Given the description of an element on the screen output the (x, y) to click on. 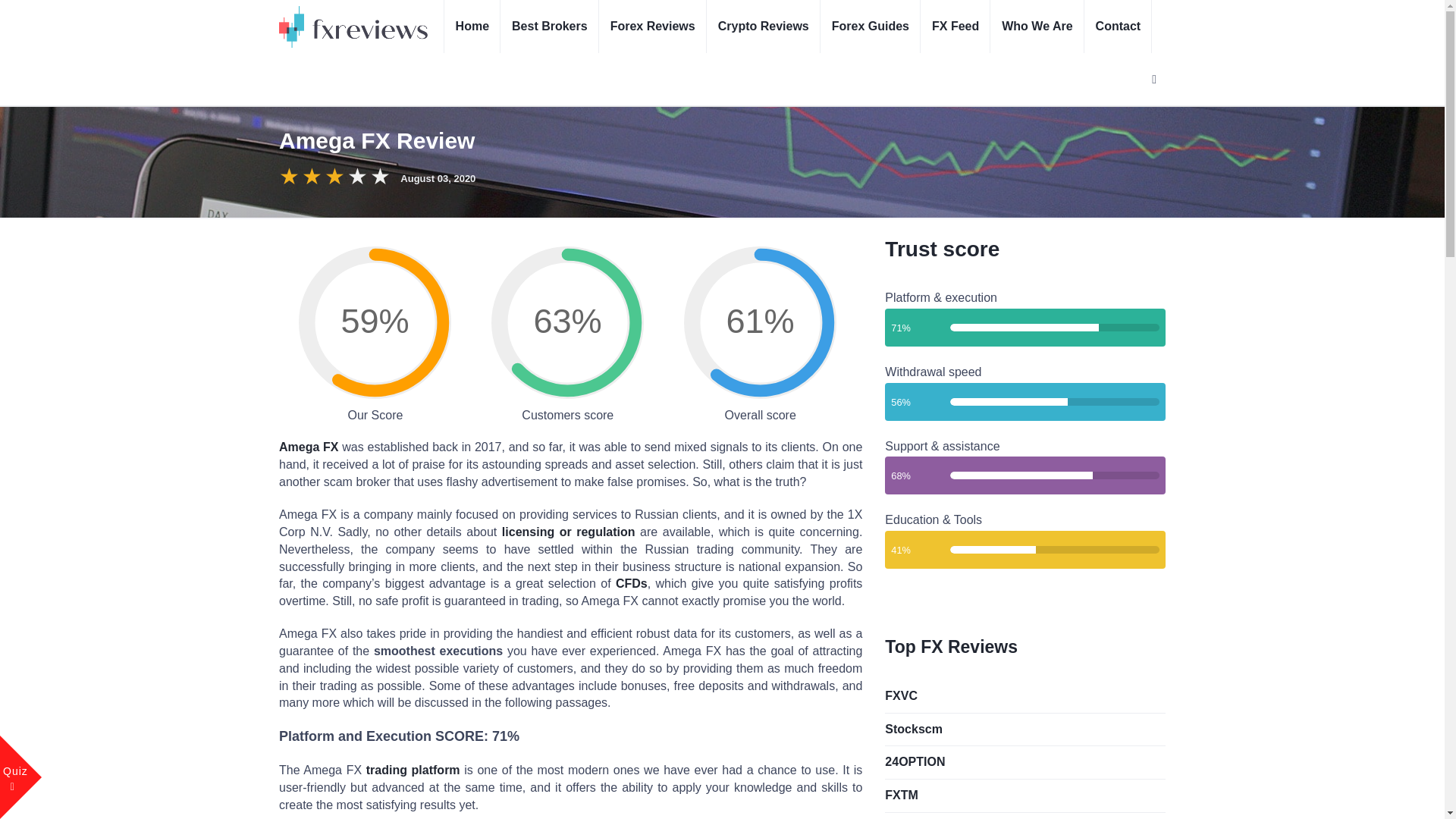
CFDs (631, 583)
Stockscm (1025, 729)
Forex Reviews (652, 26)
24OPTION (1025, 762)
Forex Guides (870, 26)
Who We Are (1036, 26)
Crypto Reviews (763, 26)
Best Brokers (549, 26)
licensing or regulation (568, 531)
Contact (1118, 26)
FXVC (1025, 696)
trading platform (413, 769)
Home (472, 26)
FXTM (1025, 795)
FX Feed (955, 26)
